Given the description of an element on the screen output the (x, y) to click on. 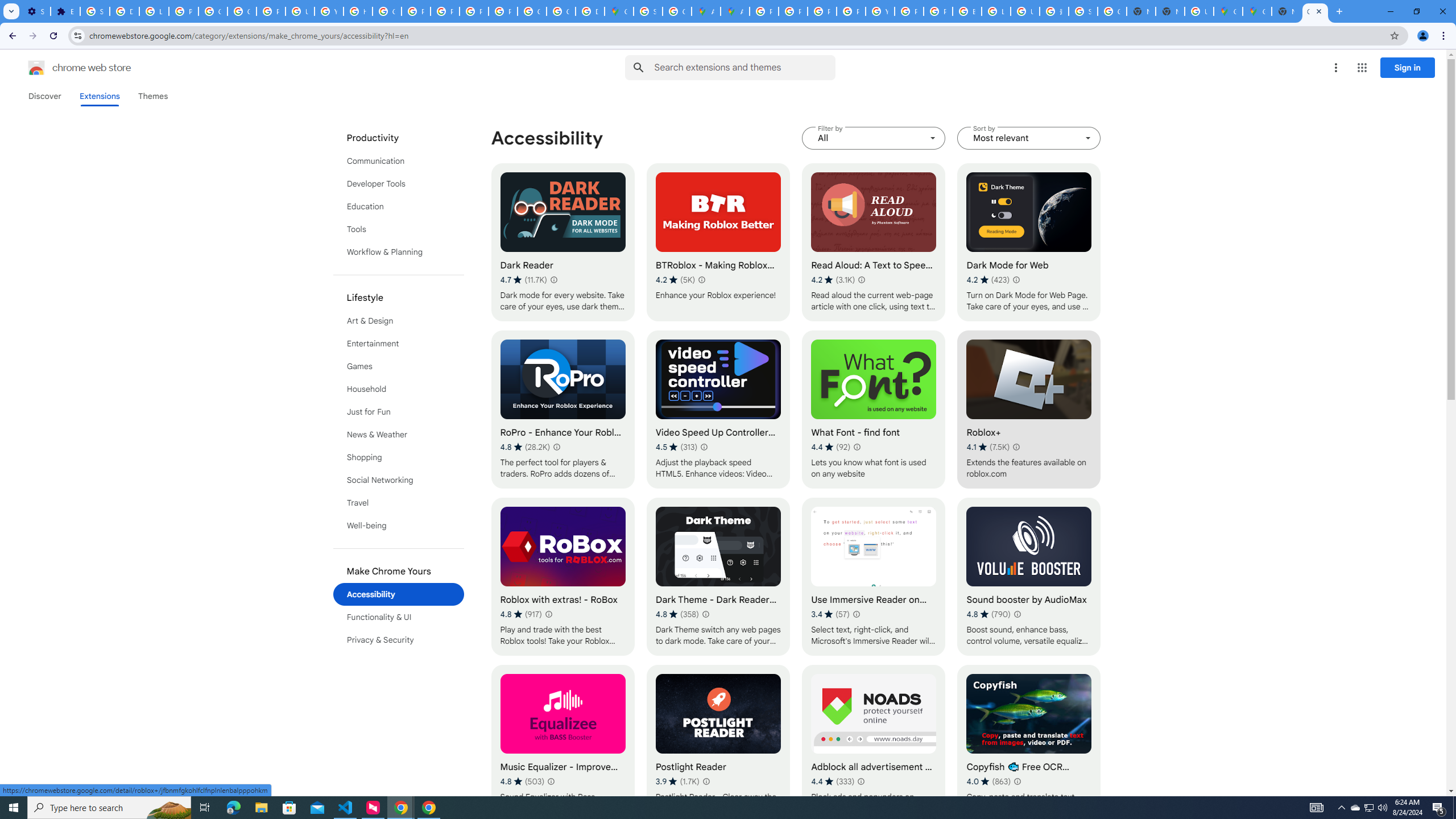
Average rating 4.0 out of 5 stars. 863 ratings. (988, 781)
Household (398, 388)
Use Immersive Reader on Websites (874, 576)
Entertainment (398, 343)
Learn more about results and reviews "Dark Reader" (553, 279)
Average rating 4.4 out of 5 stars. 92 ratings. (830, 446)
New Tab (1286, 11)
Policy Accountability and Transparency - Transparency Center (763, 11)
